Given the description of an element on the screen output the (x, y) to click on. 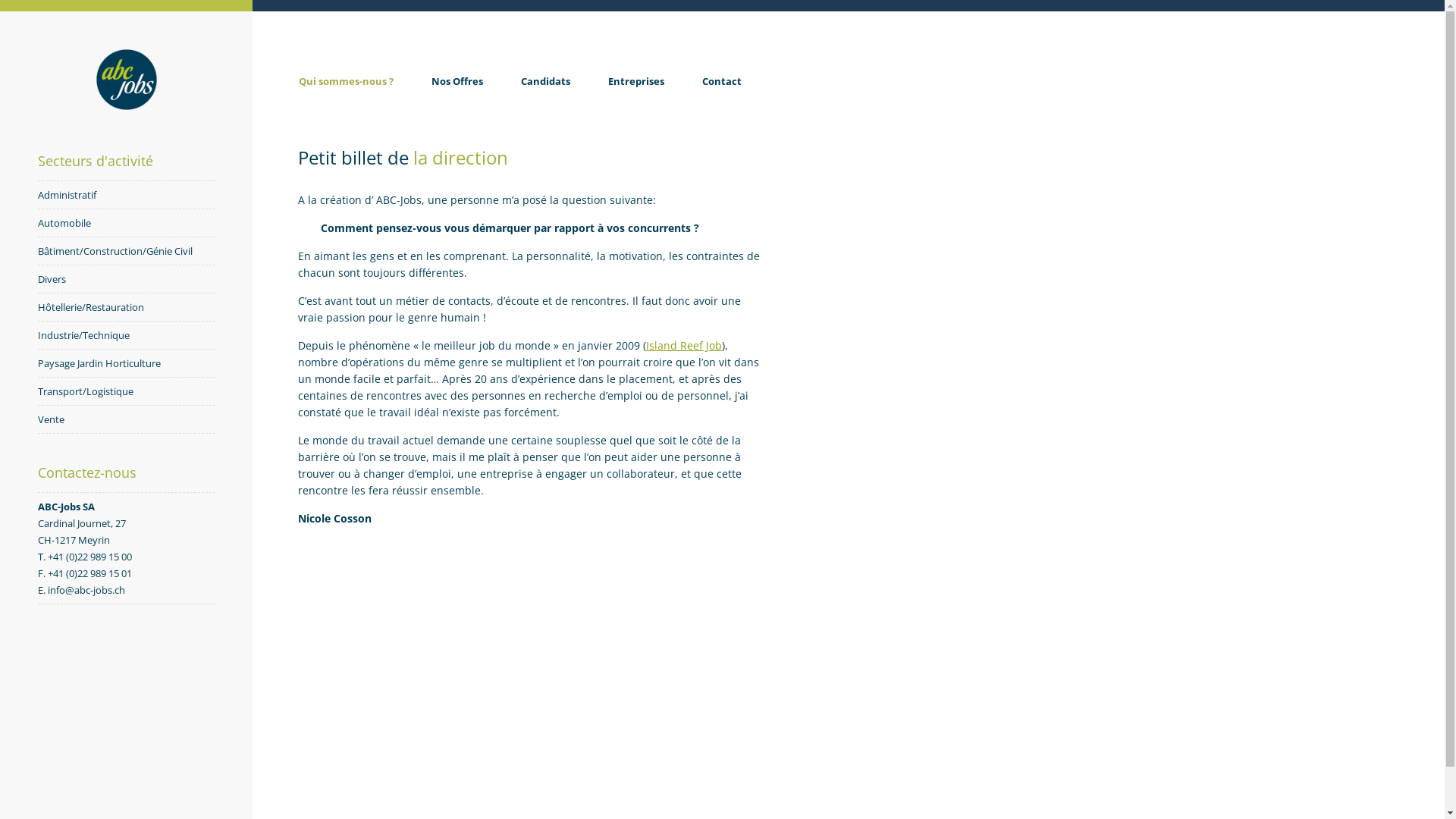
ABC Jobs Element type: hover (125, 105)
Divers Element type: text (51, 278)
Industrie/Technique Element type: text (83, 335)
Paysage Jardin Horticulture Element type: text (98, 363)
Contact Element type: text (721, 95)
Qui sommes-nous ? Element type: text (345, 95)
Vente Element type: text (50, 419)
Automobile Element type: text (64, 222)
info@abc-jobs.ch Element type: text (86, 589)
Administratif Element type: text (66, 194)
Transport/Logistique Element type: text (85, 391)
Island Reef Job Element type: text (683, 345)
Entreprises Element type: text (636, 95)
Nos Offres Element type: text (457, 95)
Candidats Element type: text (545, 95)
